Given the description of an element on the screen output the (x, y) to click on. 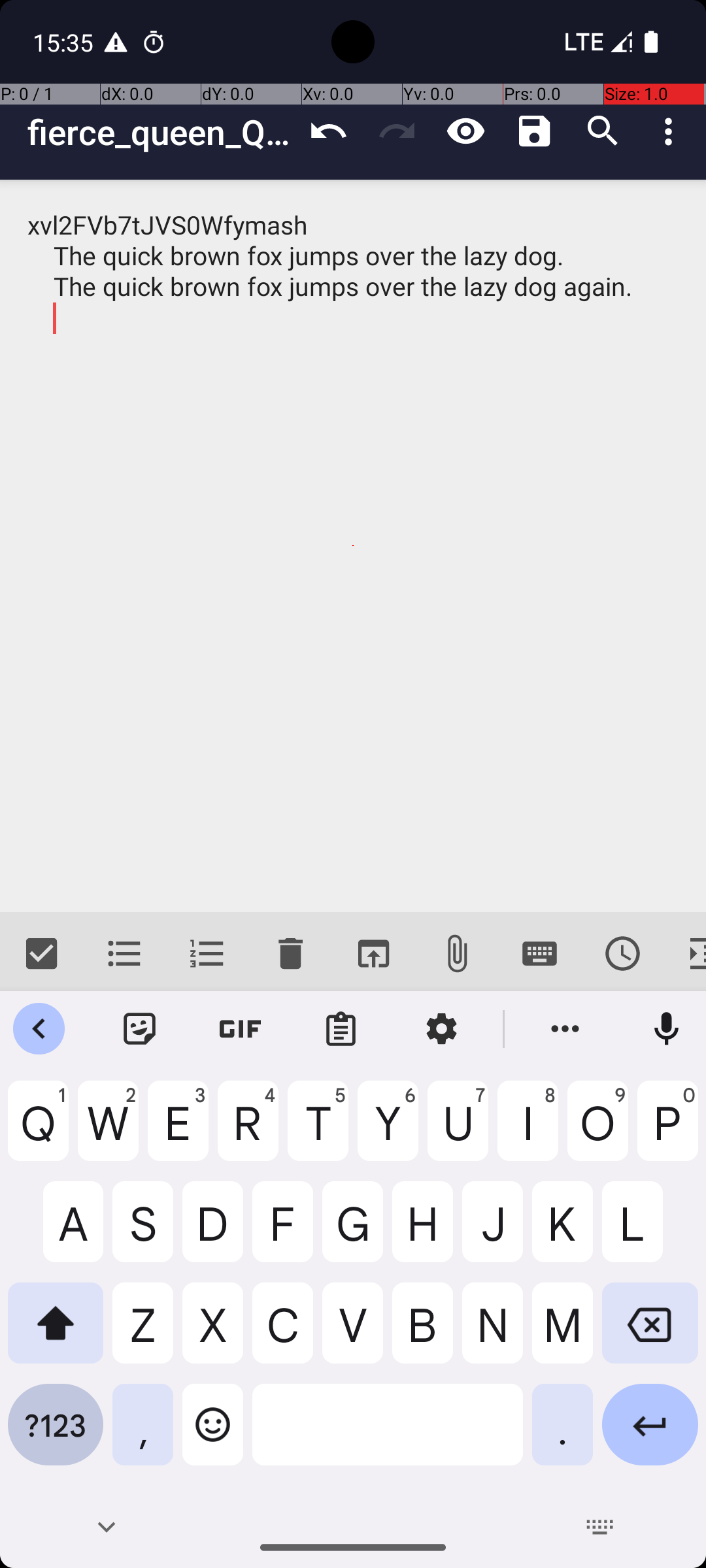
fierce_queen_QaaS Element type: android.widget.TextView (160, 131)
xvl2FVb7tJVS0Wfymash
    The quick brown fox jumps over the lazy dog.
    The quick brown fox jumps over the lazy dog again.
     Element type: android.widget.EditText (353, 545)
Ordered list Element type: android.widget.ImageView (207, 953)
Indent Element type: android.widget.ImageView (685, 953)
